Given the description of an element on the screen output the (x, y) to click on. 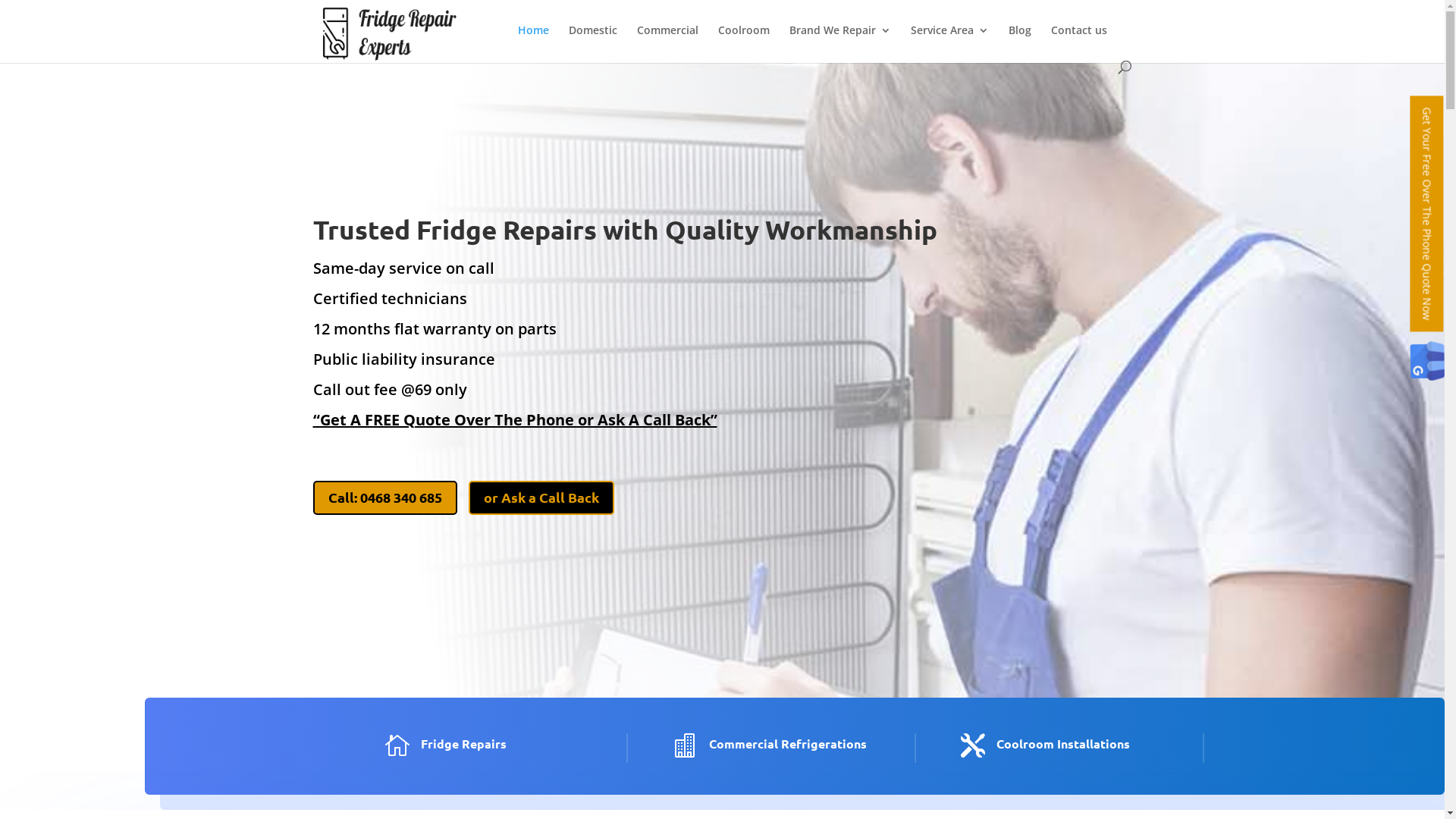
Coolroom Element type: text (742, 42)
or Ask a Call Back Element type: text (541, 497)
Domestic Element type: text (592, 42)
Service Area Element type: text (949, 42)
Home Element type: text (532, 42)
Contact us Element type: text (1079, 42)
Commercial Element type: text (667, 42)
Call: 0468 340 685 Element type: text (384, 497)
Blog Element type: text (1019, 42)
Brand We Repair Element type: text (839, 42)
